Given the description of an element on the screen output the (x, y) to click on. 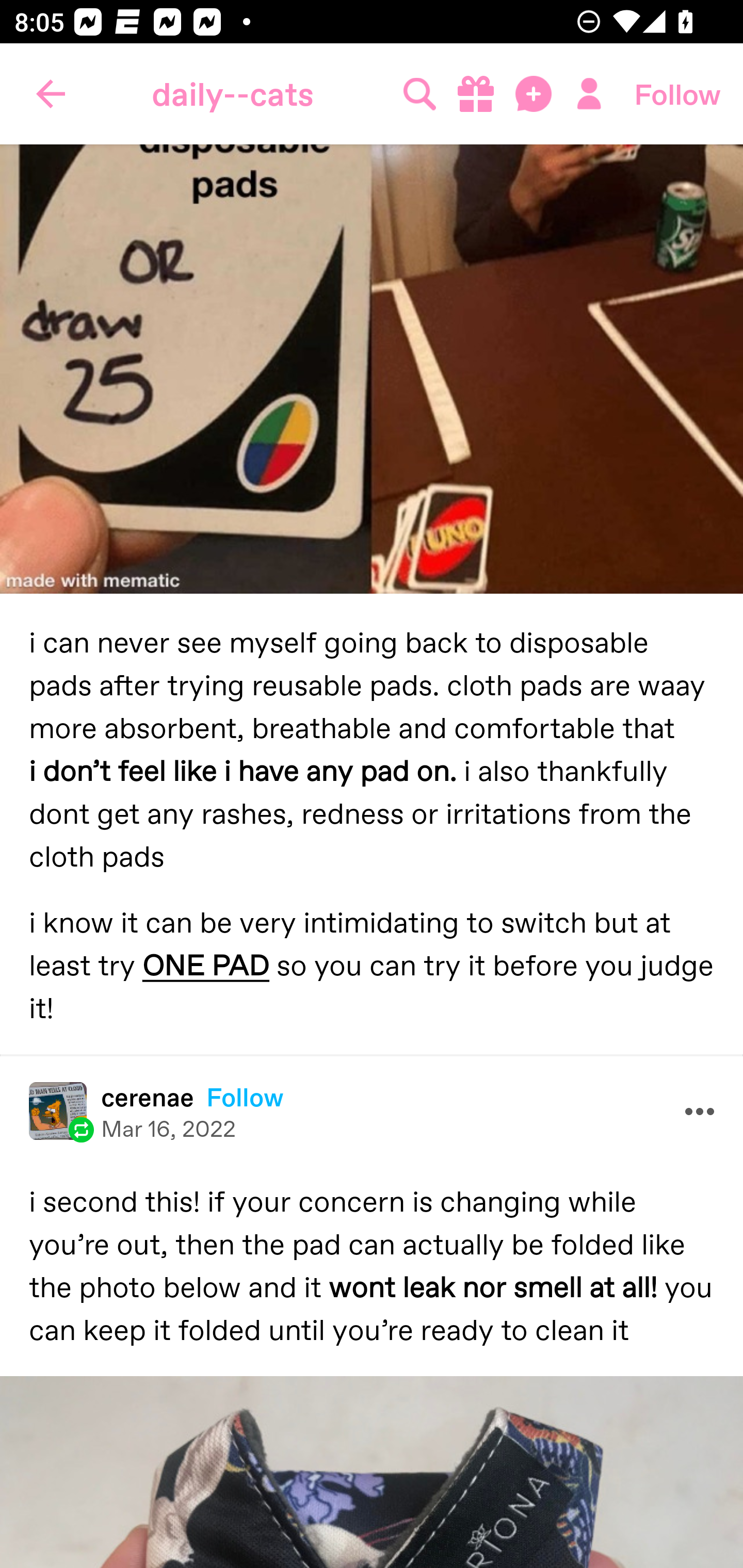
Navigate up (50, 93)
Messages (535, 93)
Follow (677, 93)
